Given the description of an element on the screen output the (x, y) to click on. 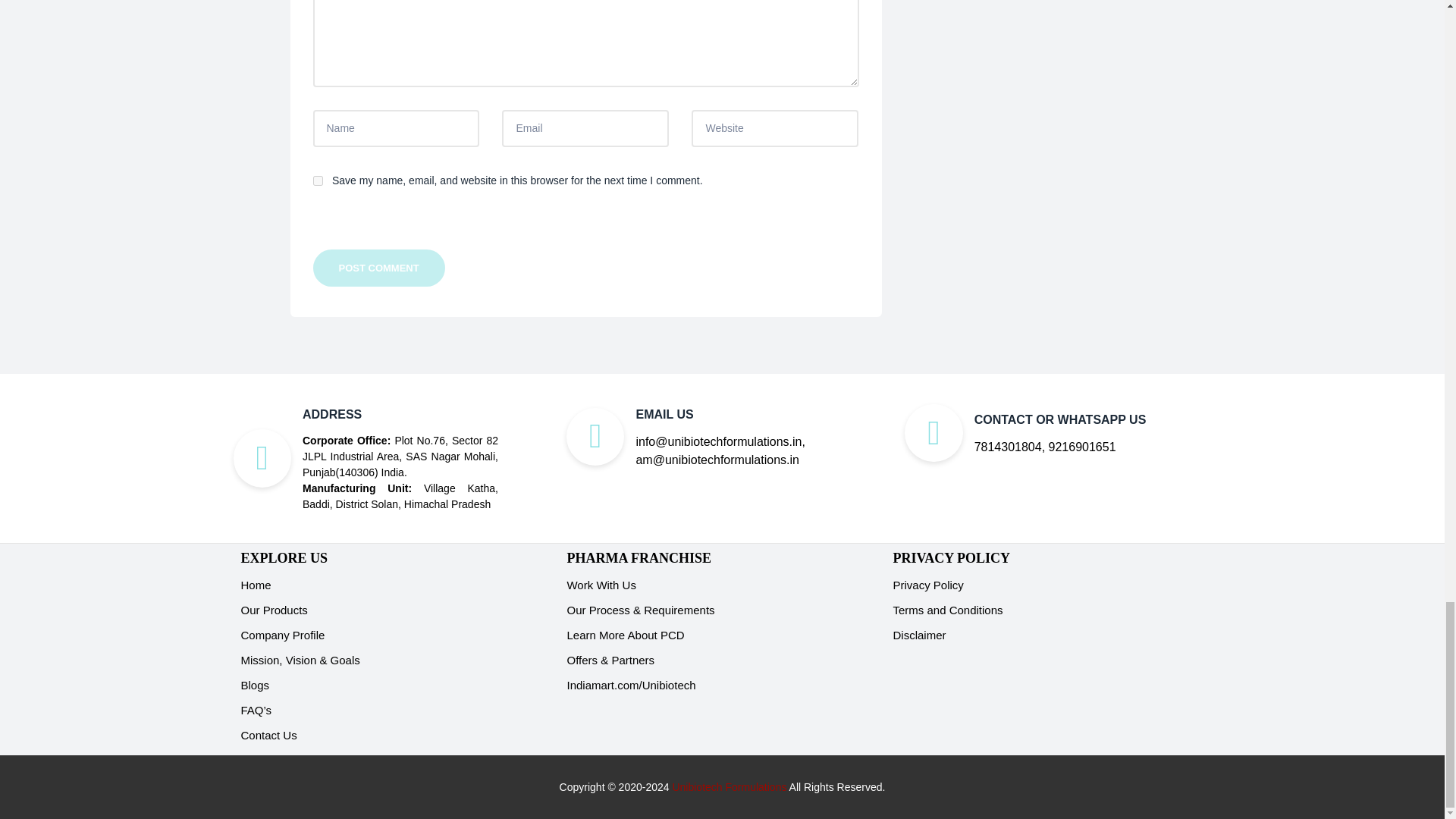
yes (317, 180)
